Given the description of an element on the screen output the (x, y) to click on. 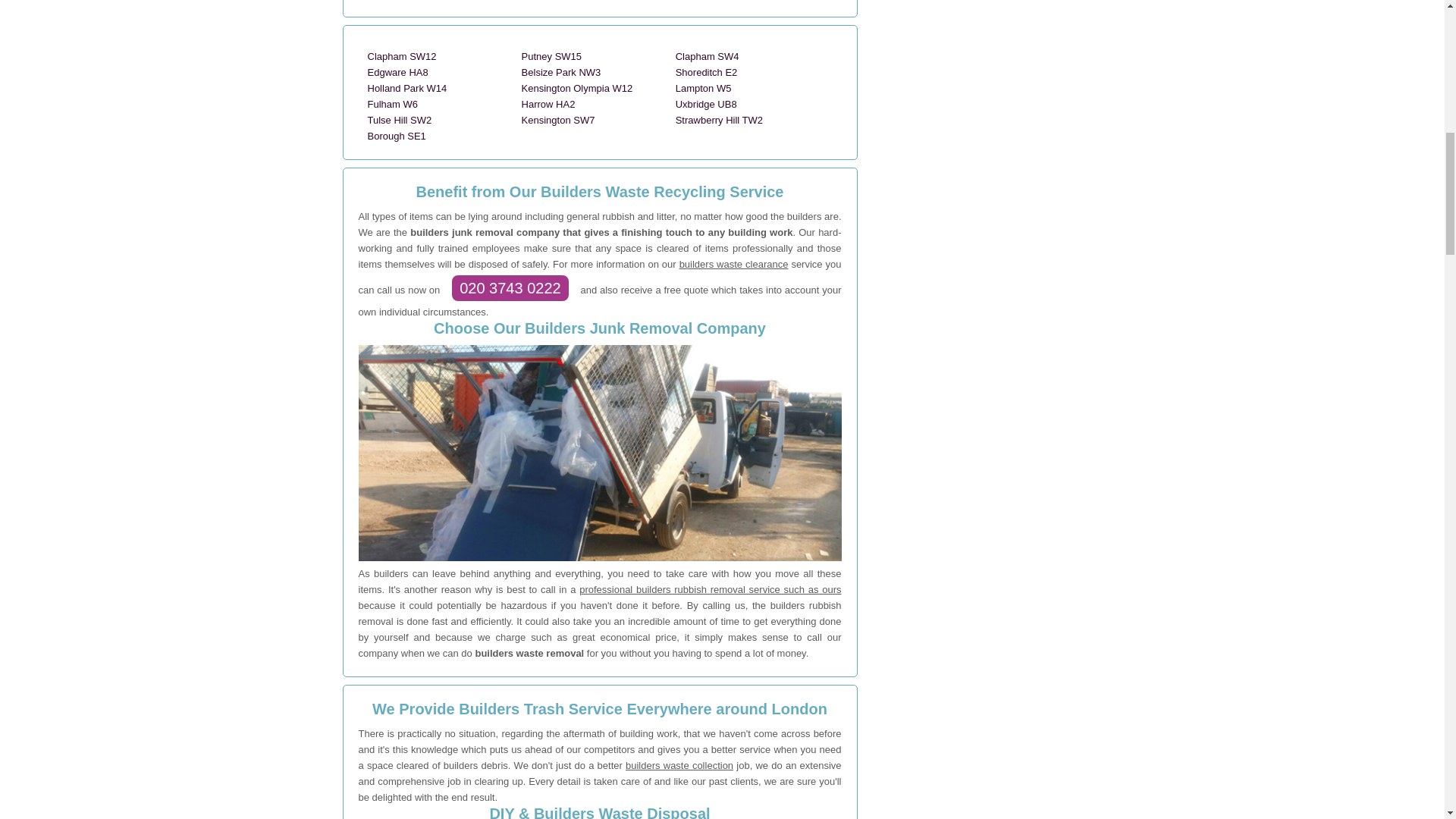
Fulham W6 (391, 103)
Belsize Park NW3 (561, 71)
Tulse Hill SW2 (398, 120)
020 3743 0222 (509, 287)
Shoreditch E2 (706, 71)
Kensington Olympia W12 (577, 88)
Uxbridge UB8 (705, 103)
Lampton W5 (703, 88)
Holland Park W14 (406, 88)
Harrow HA2 (548, 103)
Borough SE1 (395, 135)
Clapham SW12 (400, 56)
Kensington SW7 (558, 120)
Clapham SW4 (707, 56)
Call free 020 3743 0222  (509, 287)
